Given the description of an element on the screen output the (x, y) to click on. 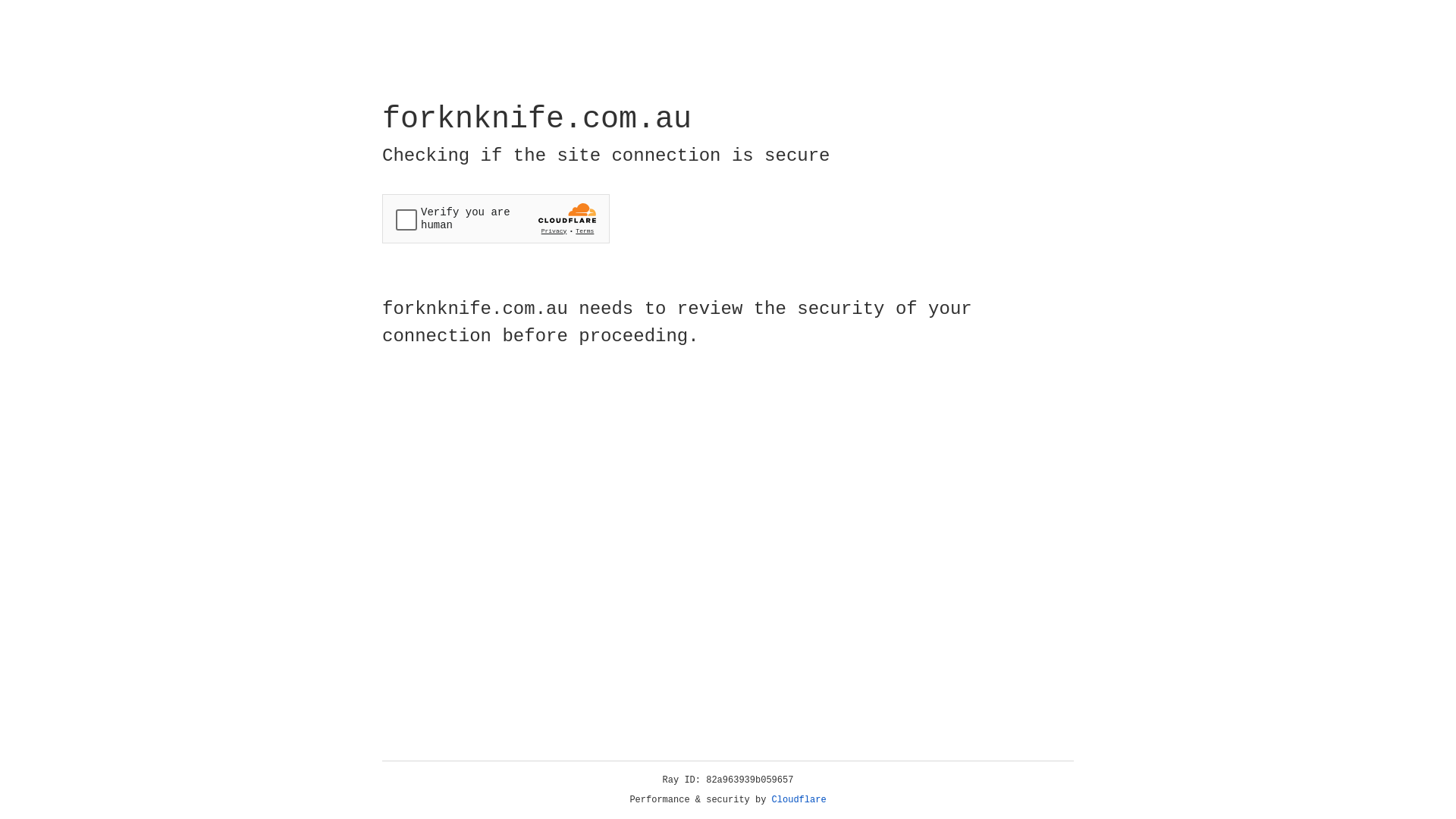
Cloudflare Element type: text (798, 799)
Widget containing a Cloudflare security challenge Element type: hover (495, 218)
